Given the description of an element on the screen output the (x, y) to click on. 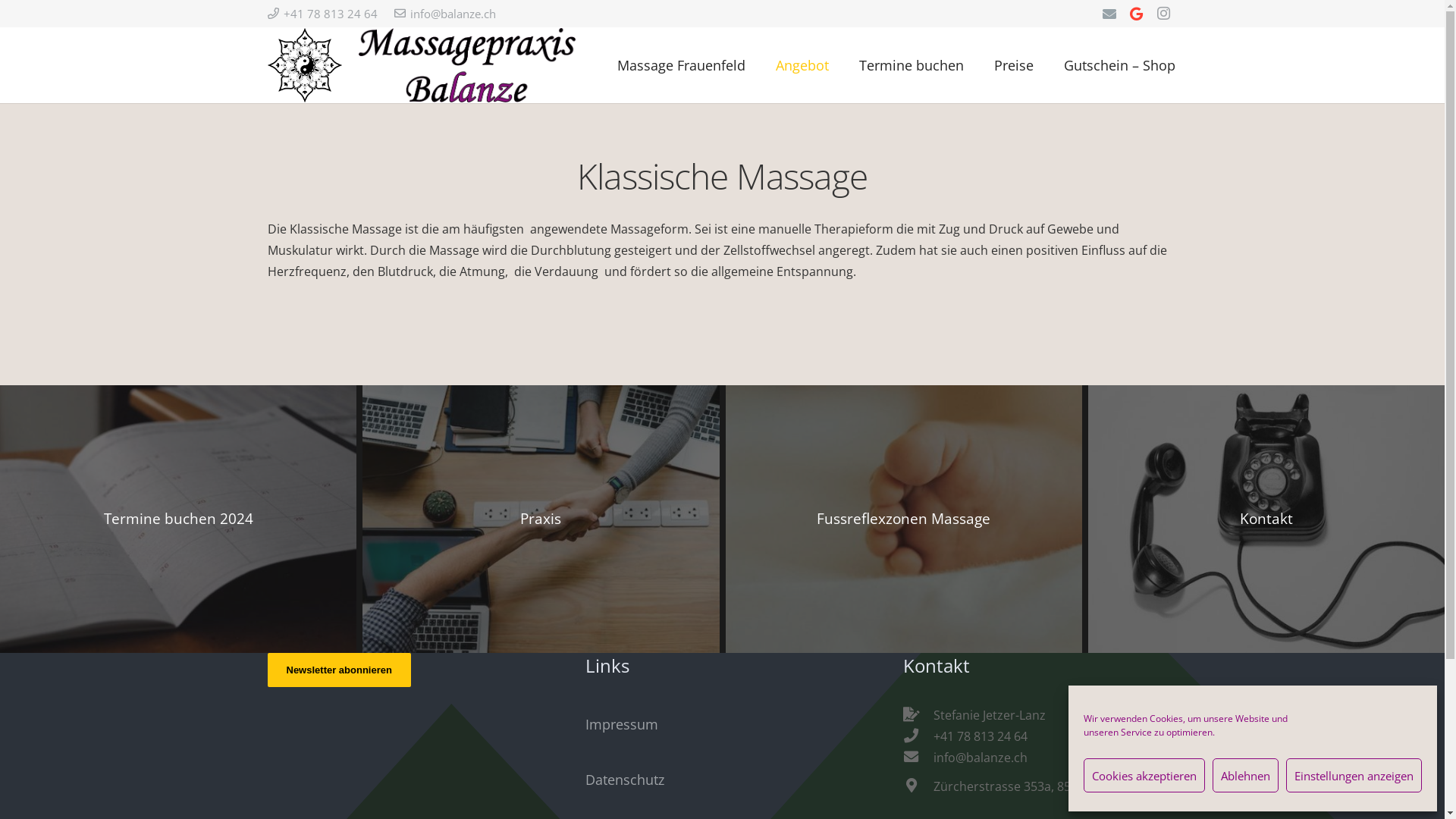
Einstellungen anzeigen Element type: text (1353, 775)
+41 78 813 24 64 Element type: text (980, 735)
Datenschutz Element type: text (624, 779)
Impressum Element type: text (621, 724)
Massage Frauenfeld Element type: text (681, 65)
E-Mail Element type: hover (1109, 13)
Cookies akzeptieren Element type: text (1143, 775)
Angebot Element type: text (802, 65)
Termine buchen Element type: text (911, 65)
Preise Element type: text (1013, 65)
info@balanze.ch Element type: text (980, 757)
Stefanie Jetzer-Lanz Element type: text (989, 714)
Instagram Element type: hover (1163, 13)
Google Element type: hover (1136, 13)
Ablehnen Element type: text (1245, 775)
